Given the description of an element on the screen output the (x, y) to click on. 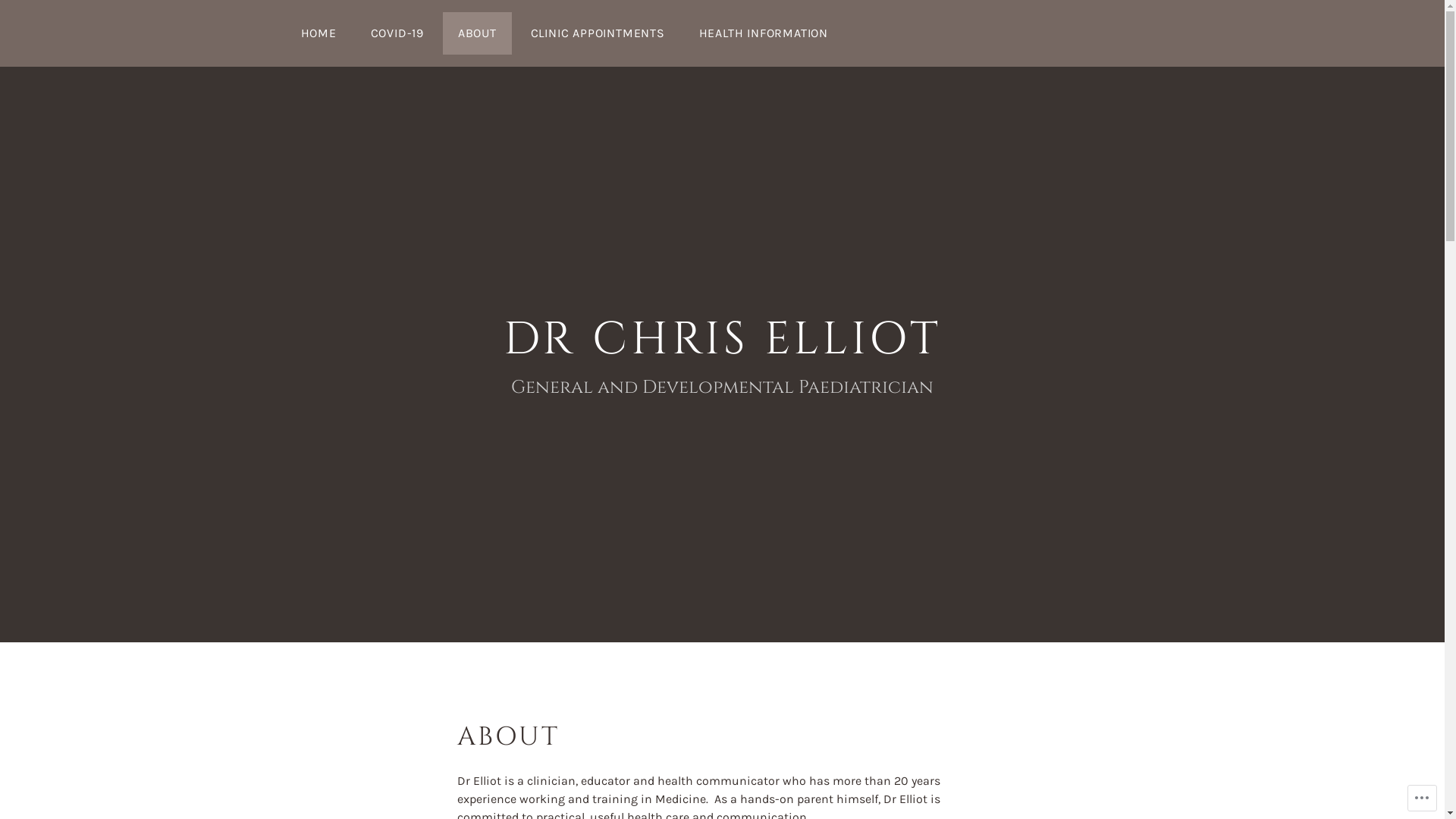
HEALTH INFORMATION Element type: text (763, 33)
HOME Element type: text (318, 33)
CLINIC APPOINTMENTS Element type: text (597, 33)
ABOUT Element type: text (476, 33)
COVID-19 Element type: text (397, 33)
DR CHRIS ELLIOT Element type: text (722, 339)
